Given the description of an element on the screen output the (x, y) to click on. 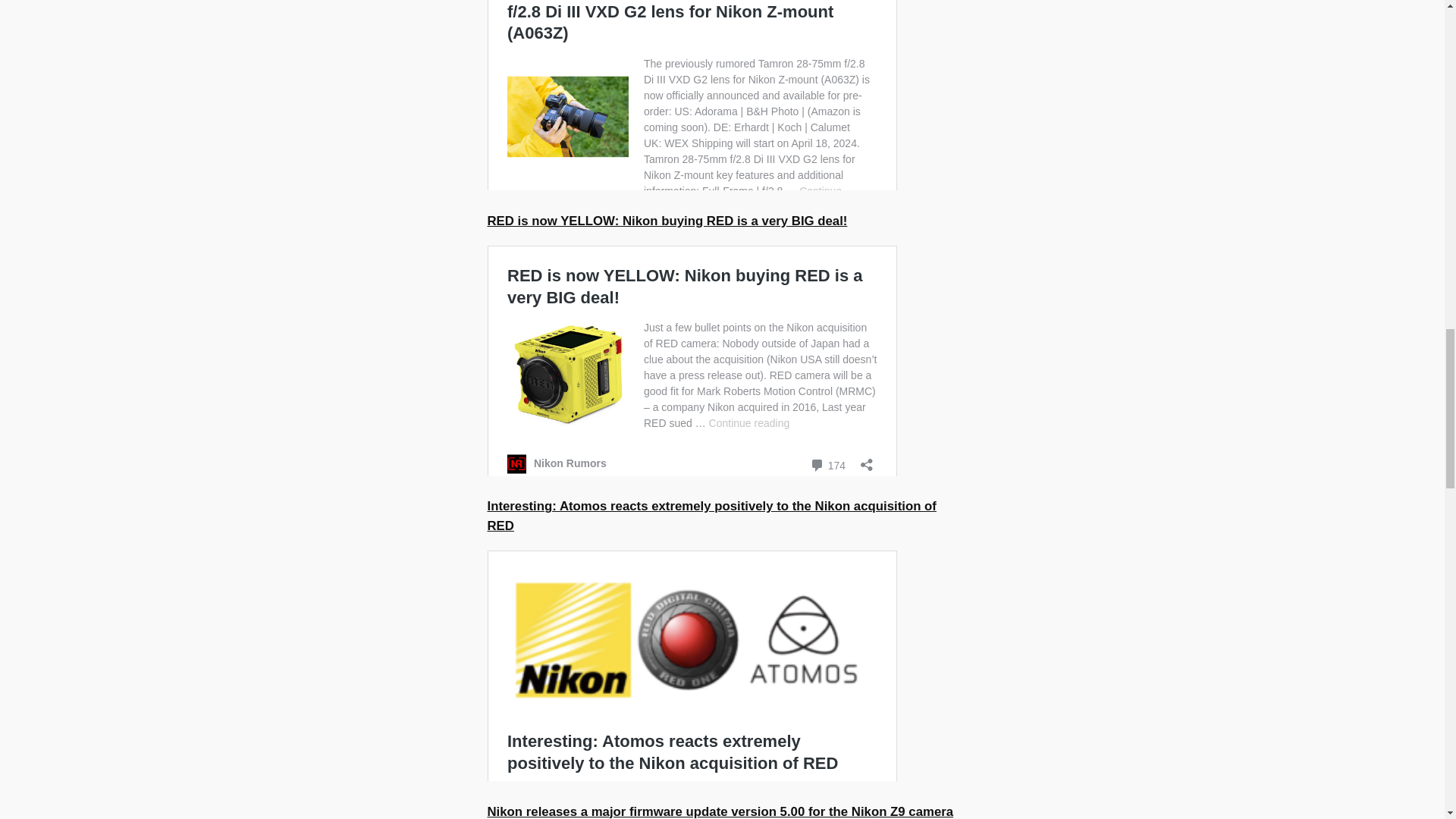
RED is now YELLOW: Nikon buying RED is a very BIG deal! (666, 220)
